Given the description of an element on the screen output the (x, y) to click on. 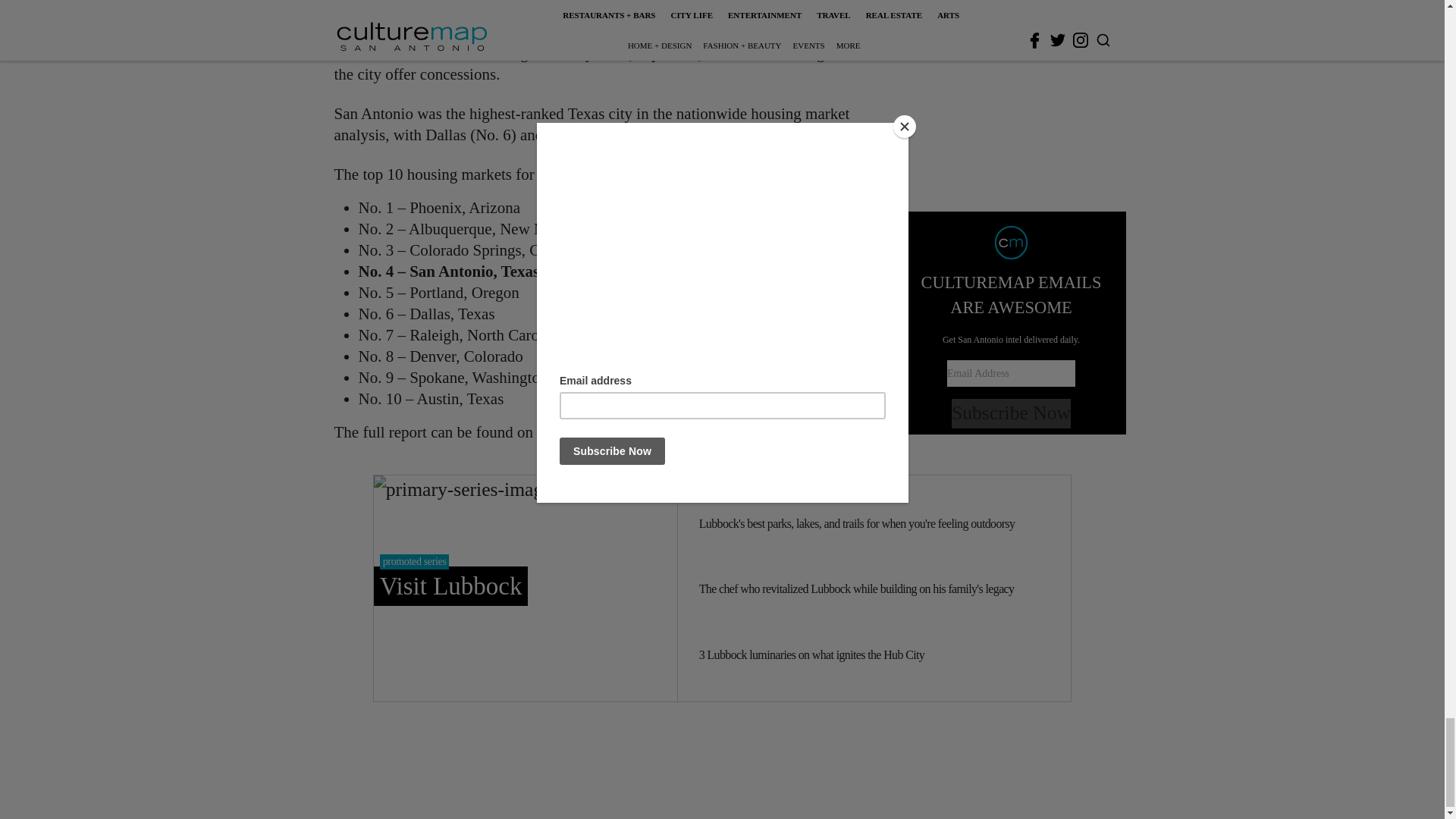
primary-link (525, 588)
